Given the description of an element on the screen output the (x, y) to click on. 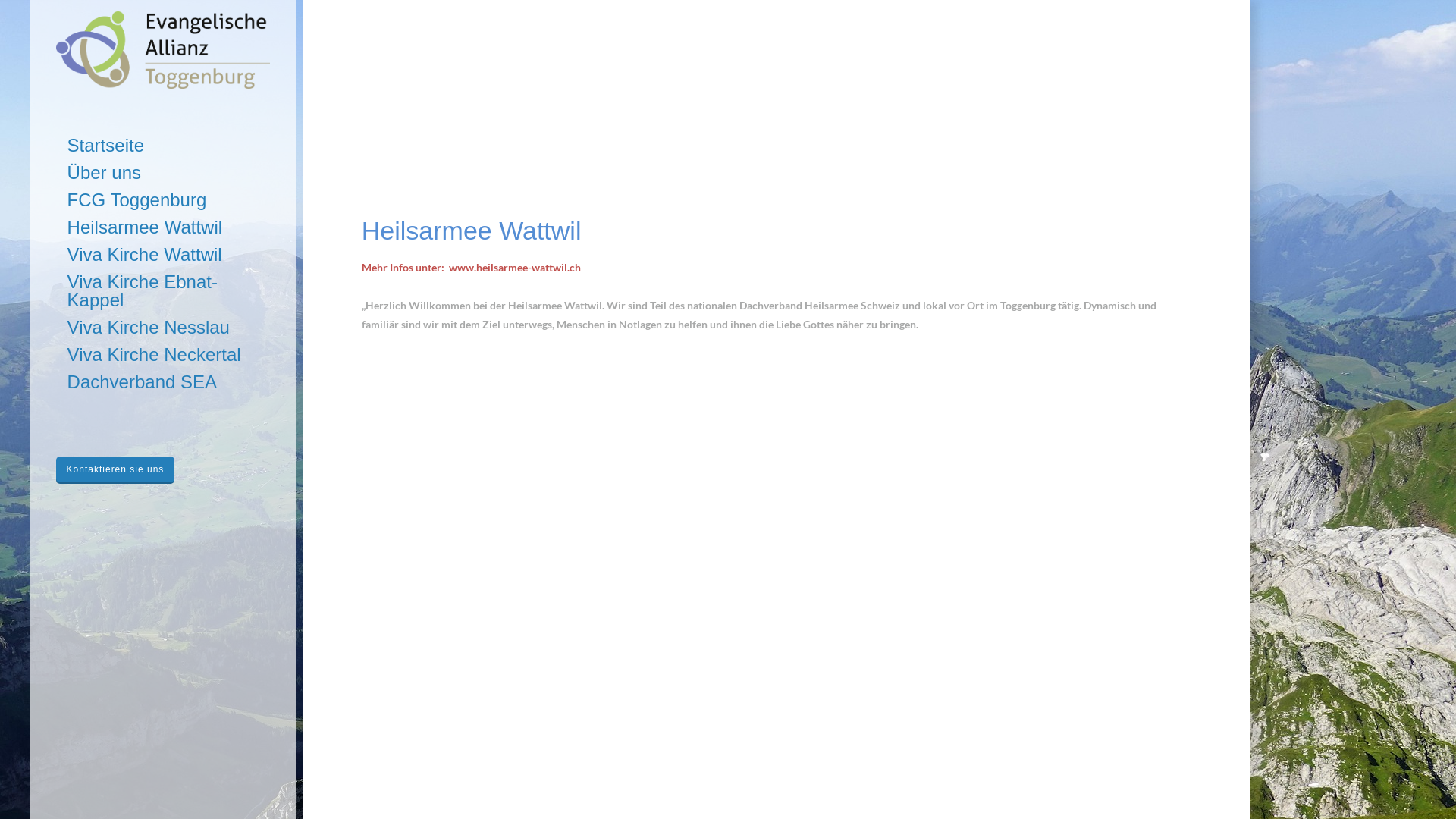
Kontaktieren sie uns Element type: text (115, 470)
Viva Kirche Ebnat-Kappel Element type: text (163, 291)
Viva Kirche Neckertal Element type: text (163, 355)
Viva Kirche Wattwil Element type: text (163, 255)
Viva Kirche Nesslau Element type: text (163, 328)
FCG Toggenburg Element type: text (163, 200)
www.heilsarmee-wattwil.ch Element type: text (522, 266)
Heilsarmee Wattwil Element type: text (163, 227)
Dachverband SEA Element type: text (163, 382)
Startseite Element type: text (163, 146)
